Given the description of an element on the screen output the (x, y) to click on. 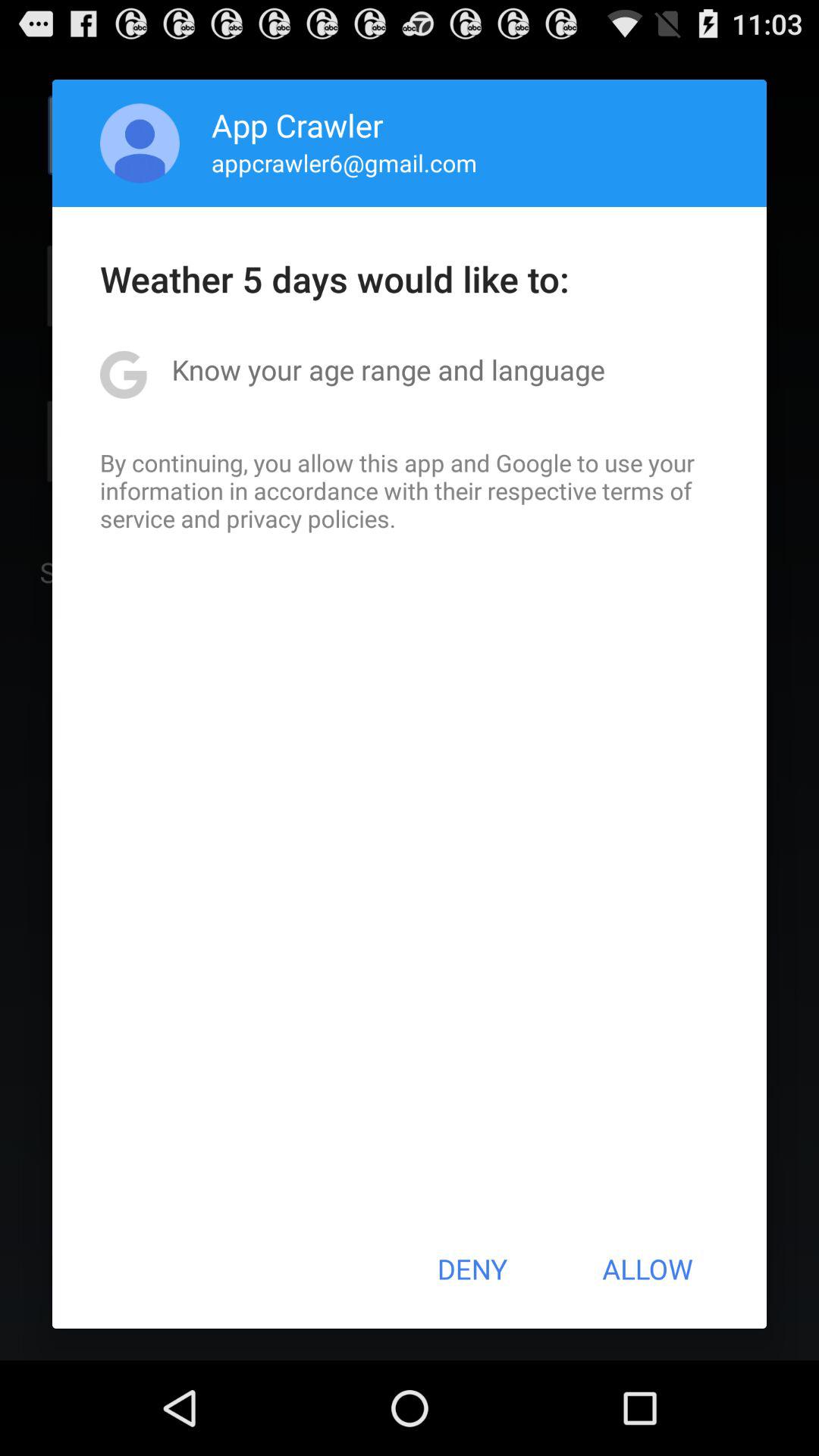
tap icon to the left of the allow button (471, 1268)
